Given the description of an element on the screen output the (x, y) to click on. 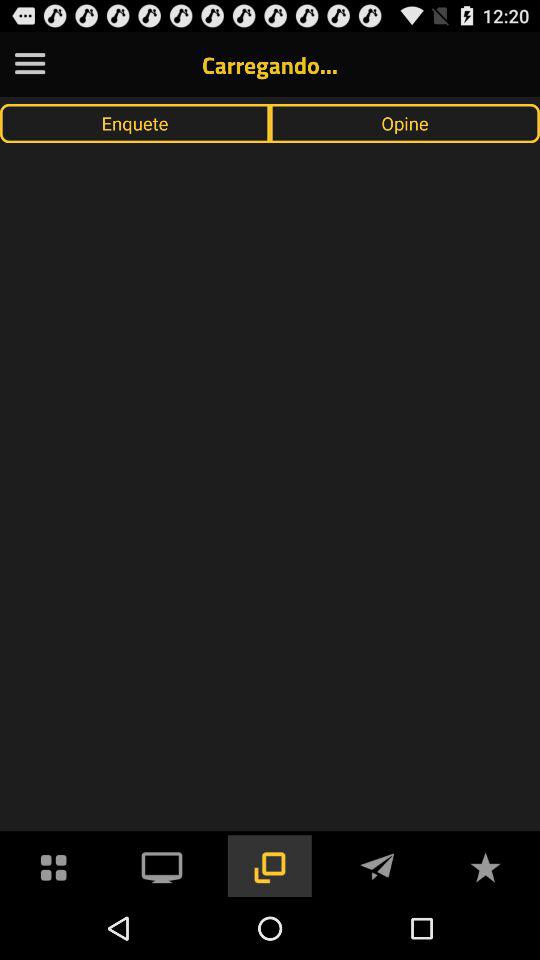
jump until the opine item (405, 123)
